Given the description of an element on the screen output the (x, y) to click on. 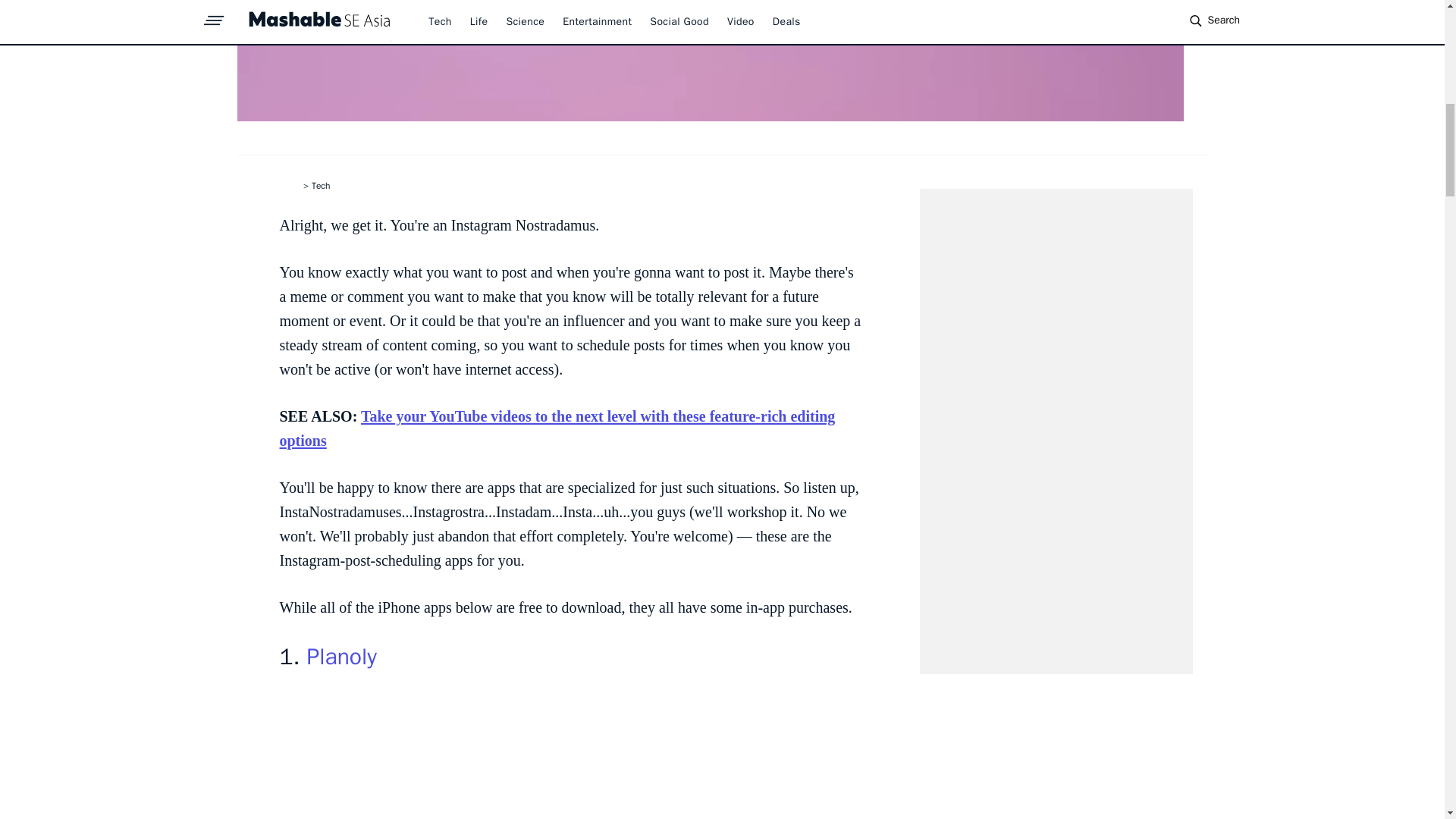
lanoly (346, 656)
